Given the description of an element on the screen output the (x, y) to click on. 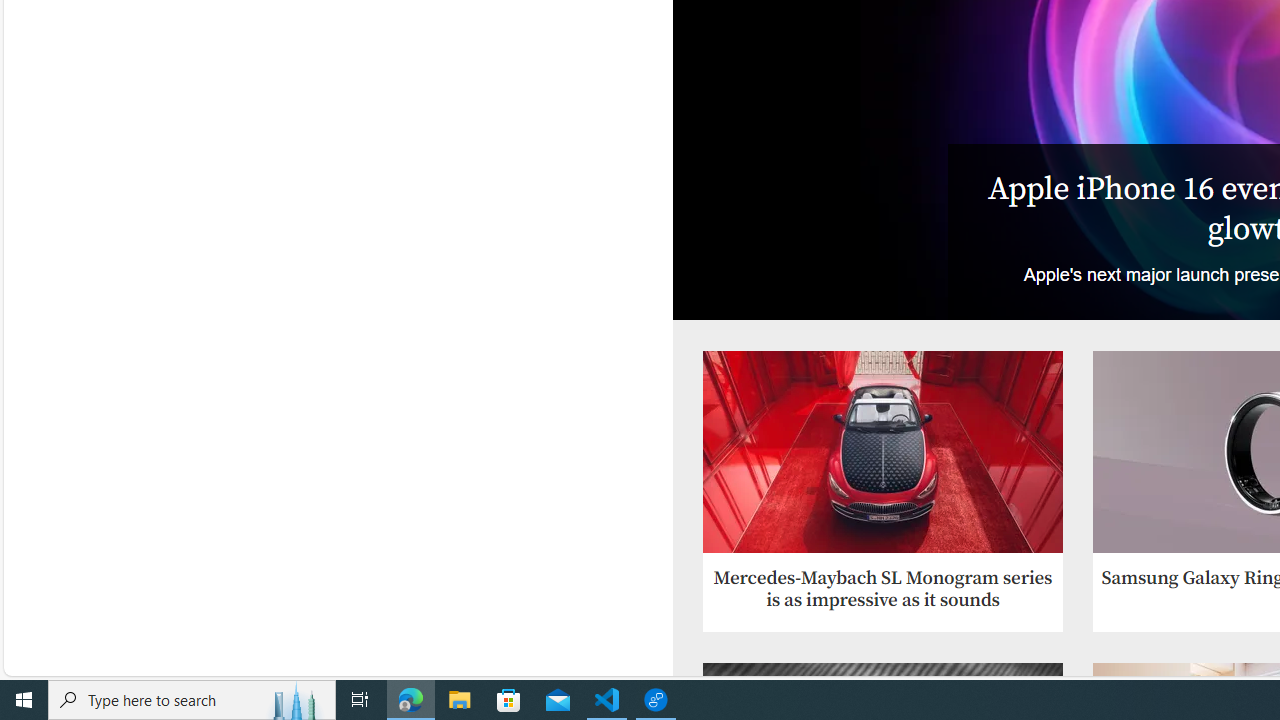
Mercedes-Maybach SL Monogram Series (881, 452)
